Given the description of an element on the screen output the (x, y) to click on. 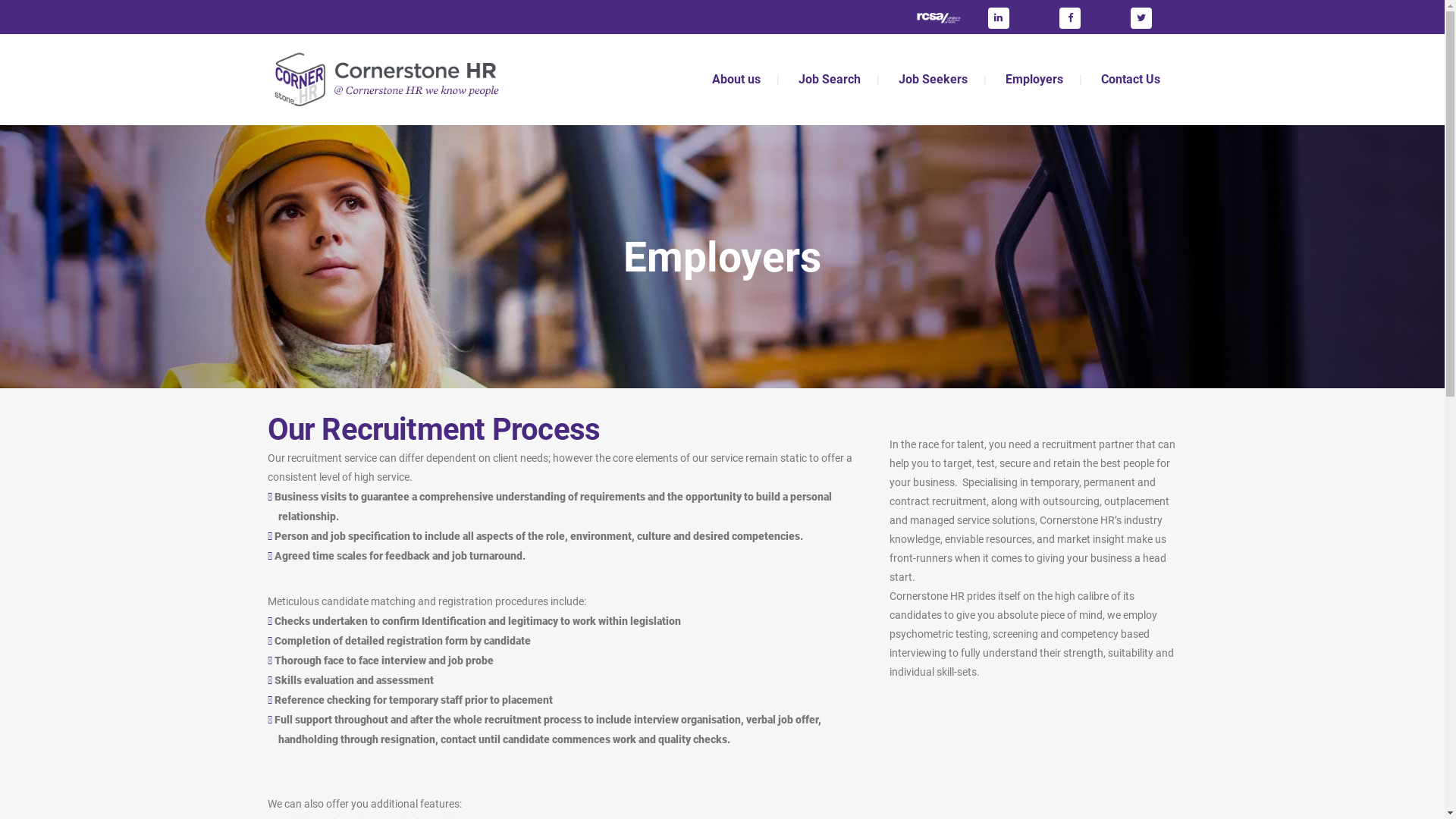
Employers Element type: text (1033, 79)
Job Seekers Element type: text (933, 79)
About us Element type: text (736, 79)
Contact Us Element type: text (1129, 79)
Job Search Element type: text (829, 79)
